Given the description of an element on the screen output the (x, y) to click on. 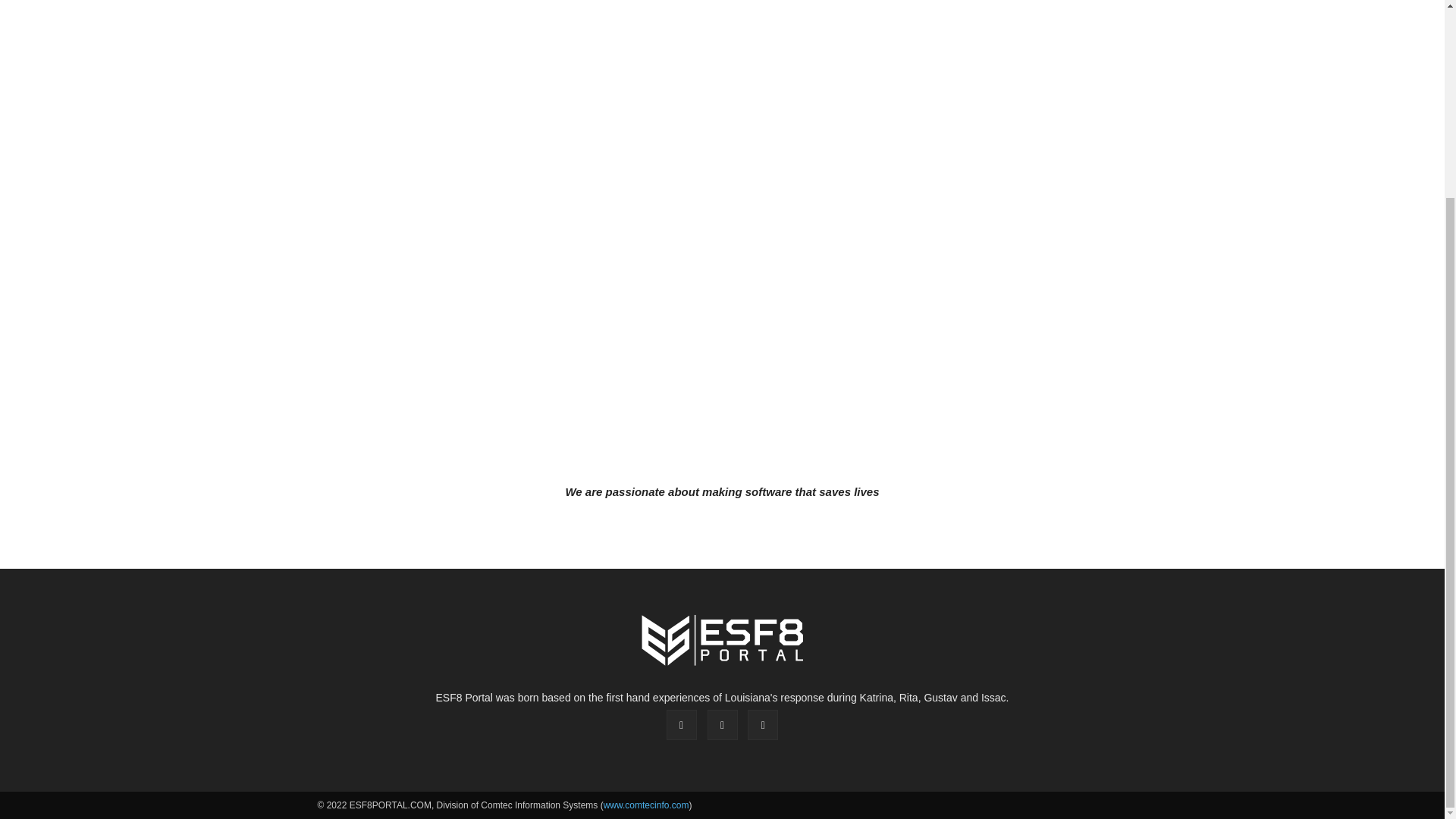
Twitter (762, 725)
www.comtecinfo.com (646, 805)
Facebook (681, 725)
Linkedin (721, 725)
